Given the description of an element on the screen output the (x, y) to click on. 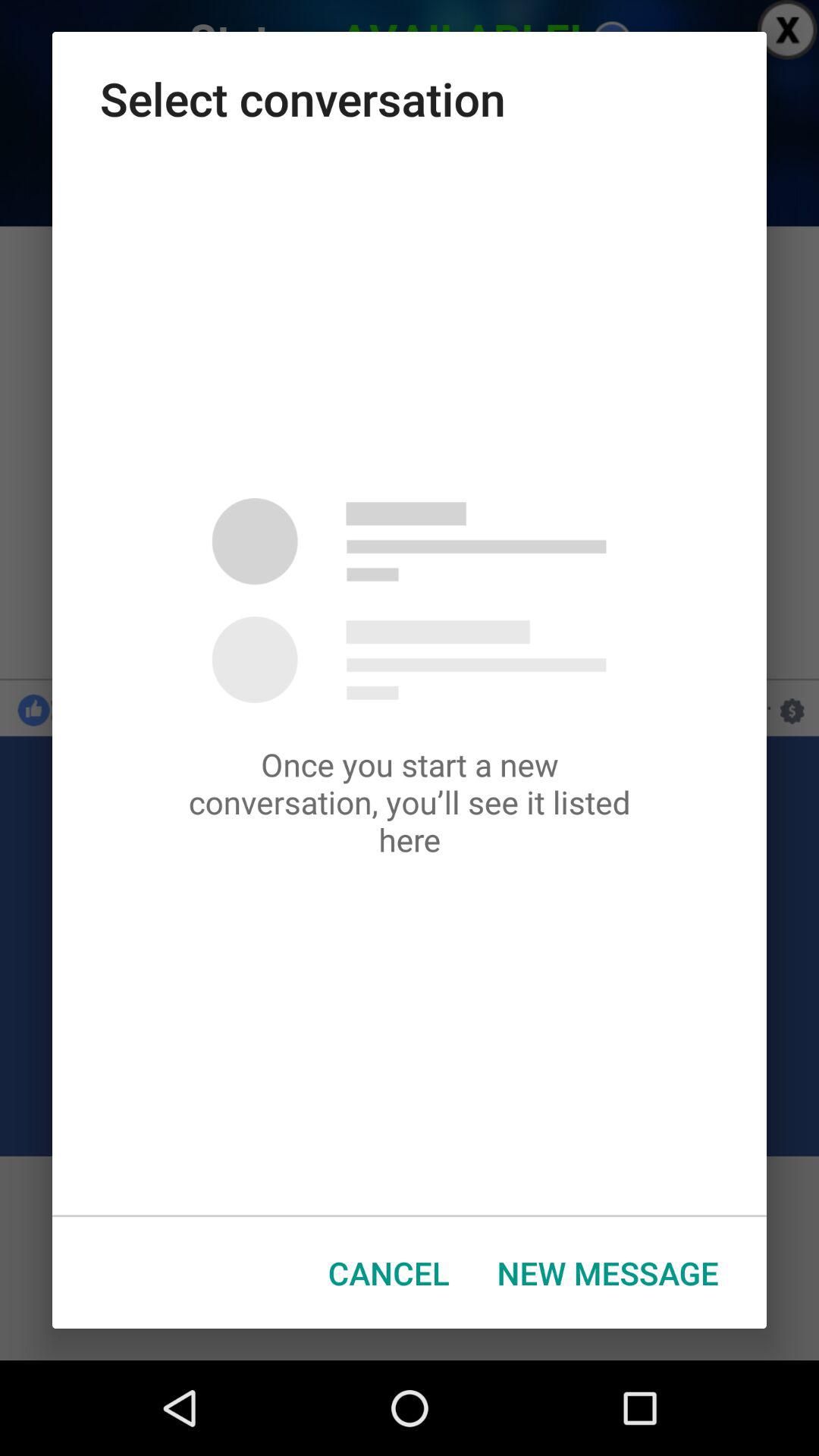
swipe to new message item (607, 1272)
